Given the description of an element on the screen output the (x, y) to click on. 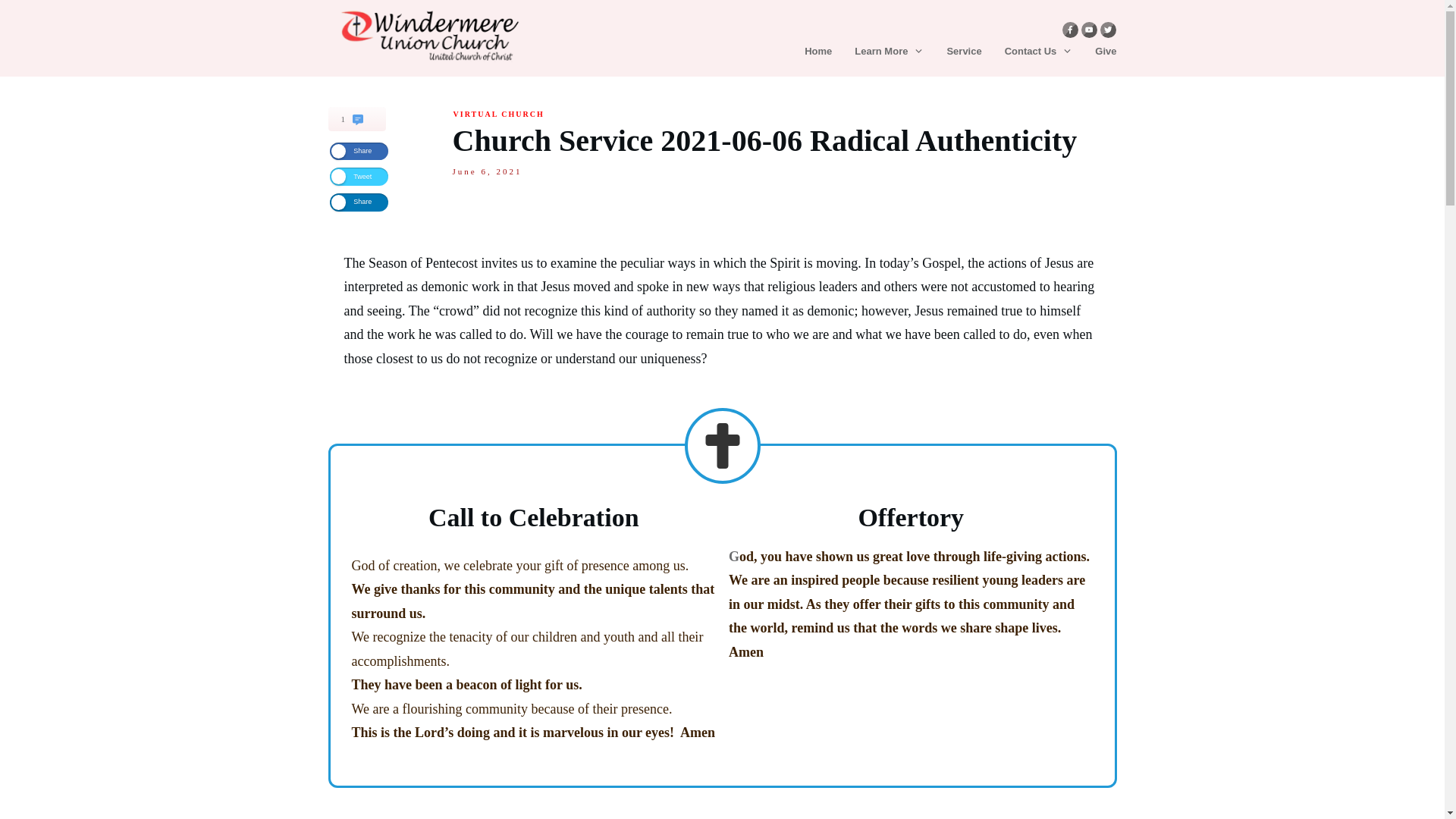
Share (358, 151)
Tweet (358, 176)
VIRTUAL CHURCH (498, 113)
Learn More (888, 51)
Give (1105, 51)
1  (381, 122)
Virtual Church (498, 113)
Service (963, 51)
Contact Us (1038, 51)
Share (358, 202)
